Given the description of an element on the screen output the (x, y) to click on. 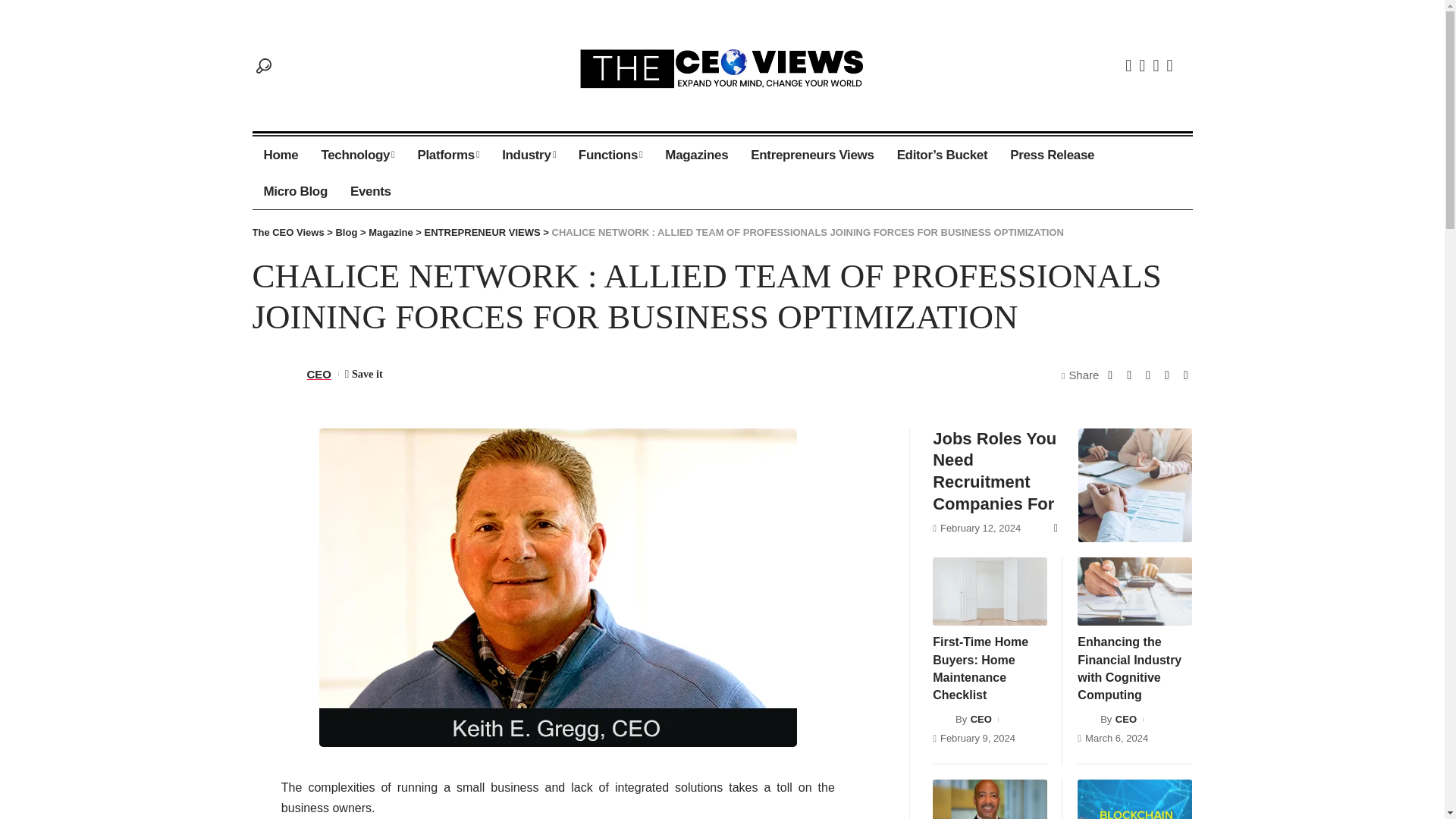
Go to The CEO Views. (287, 232)
Technology (357, 154)
Platforms (448, 154)
Go to the ENTREPRENEUR VIEWS Category archives. (482, 232)
Jobs Roles You Need Recruitment Companies For (1135, 485)
Go to the Magazine Category archives. (390, 232)
Go to Blog. (345, 232)
Home (279, 154)
